Given the description of an element on the screen output the (x, y) to click on. 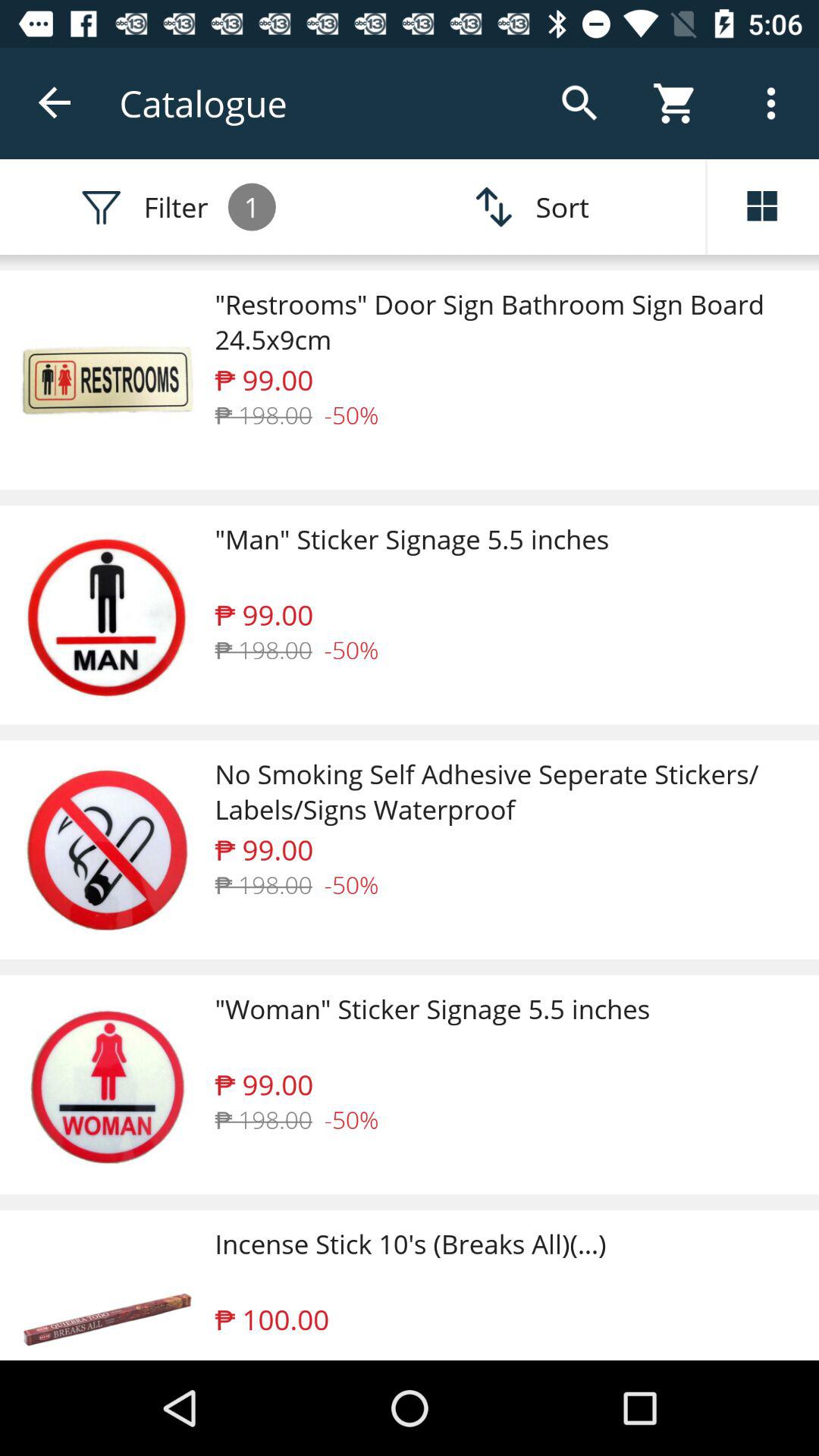
press the item next to the catalogue icon (55, 103)
